Given the description of an element on the screen output the (x, y) to click on. 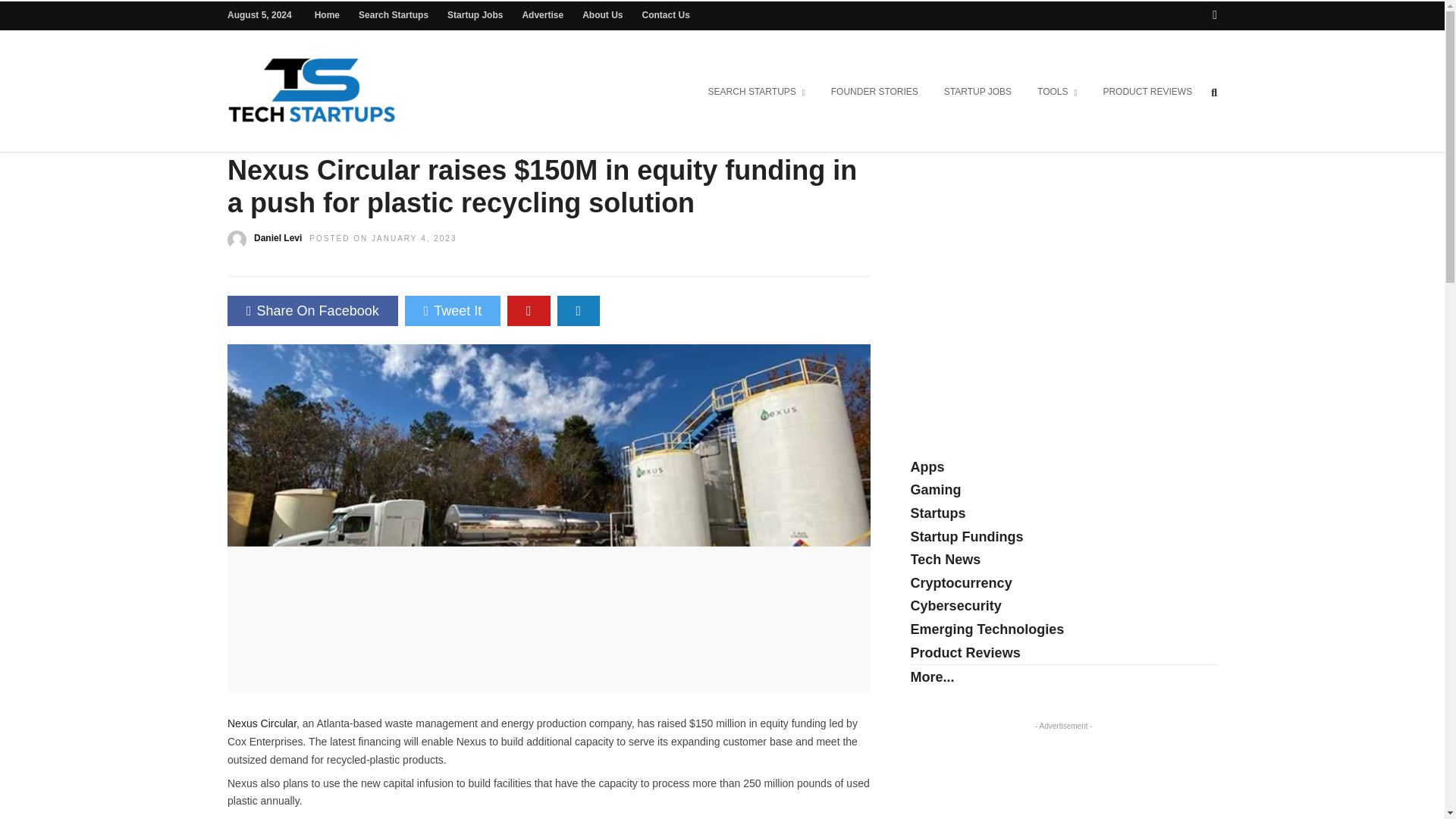
TECH STARTUP NEWS (714, 122)
Share On Facebook (312, 310)
ENVIRONMENT (368, 122)
FOUNDER STORIES (874, 92)
PRODUCT REVIEWS (1147, 92)
Contact Us (665, 14)
About Us (602, 14)
Share On Facebook (312, 310)
Home (326, 14)
HOME (243, 122)
Search Startups (393, 14)
Daniel Levi (277, 237)
STARTUP SPOTLIGHT (587, 122)
Tweet It (452, 310)
TOOLS (1057, 92)
